Given the description of an element on the screen output the (x, y) to click on. 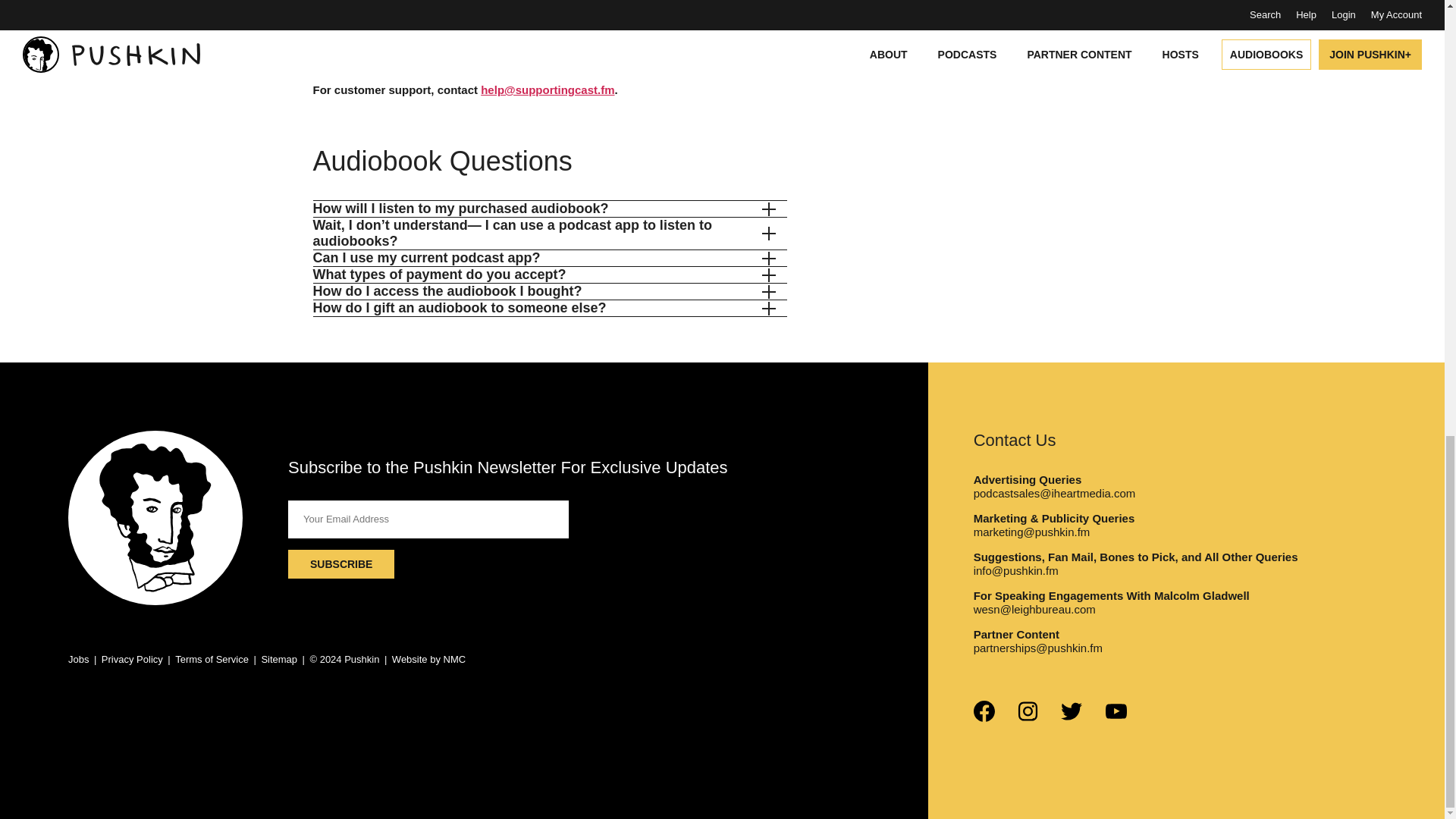
Sitemap (278, 659)
How do I access the audiobook I bought? (543, 291)
Terms of Service (211, 659)
Privacy Policy (132, 659)
Can I use my current podcast app? (543, 258)
Website by NMC (428, 659)
SUBSCRIBE (341, 563)
How will I listen to my purchased audiobook? (543, 208)
How do I gift an audiobook to someone else? (543, 308)
Jobs (78, 659)
